Given the description of an element on the screen output the (x, y) to click on. 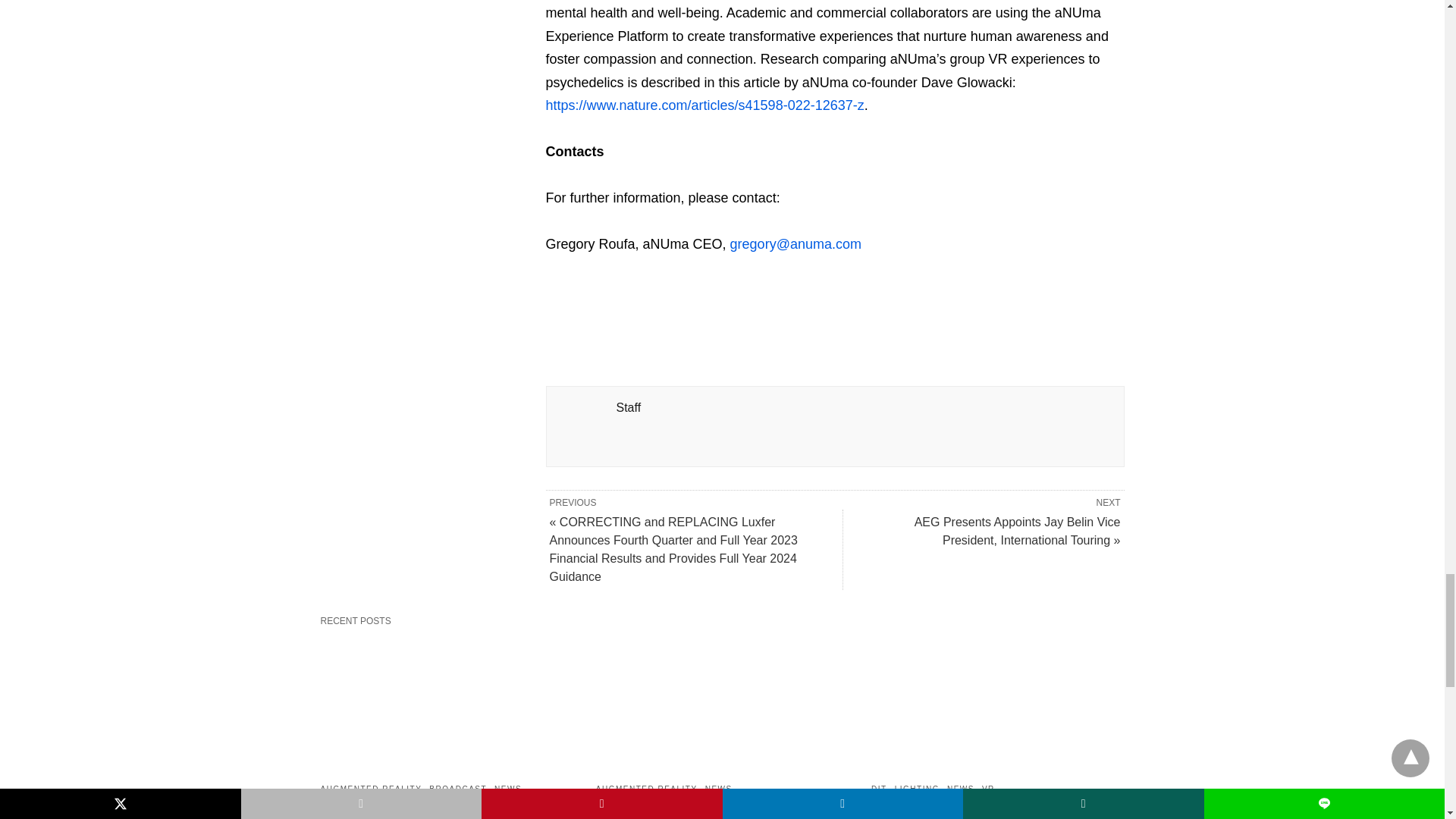
Facebook (558, 297)
